Given the description of an element on the screen output the (x, y) to click on. 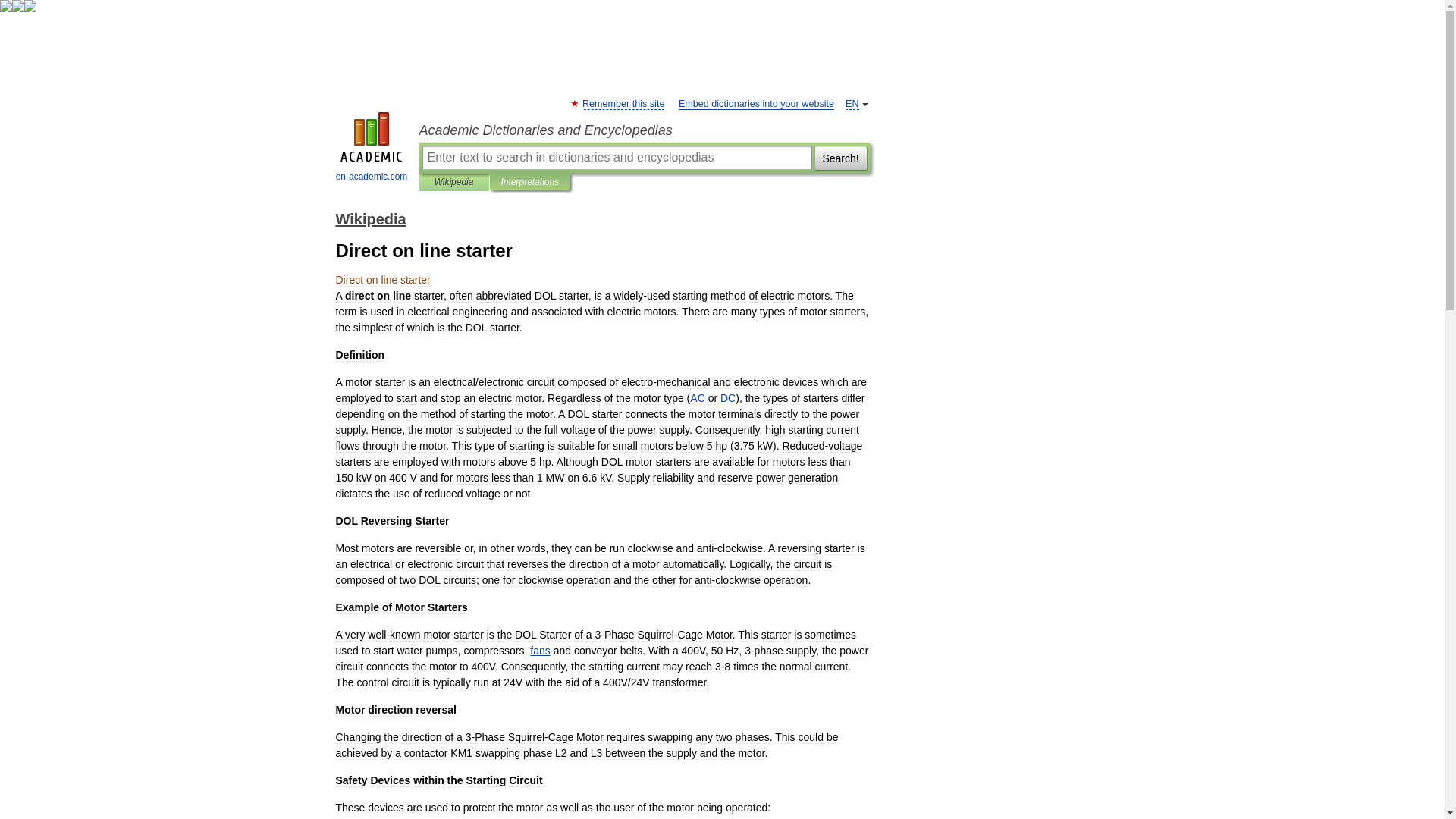
Wikipedia (370, 218)
Enter text to search in dictionaries and encyclopedias (616, 157)
en-academic.com (371, 148)
Remember this site (623, 103)
Embed dictionaries into your website (756, 103)
Academic Dictionaries and Encyclopedias (644, 130)
fans (539, 650)
Search! (840, 157)
AC (697, 398)
Interpretations (529, 181)
